Given the description of an element on the screen output the (x, y) to click on. 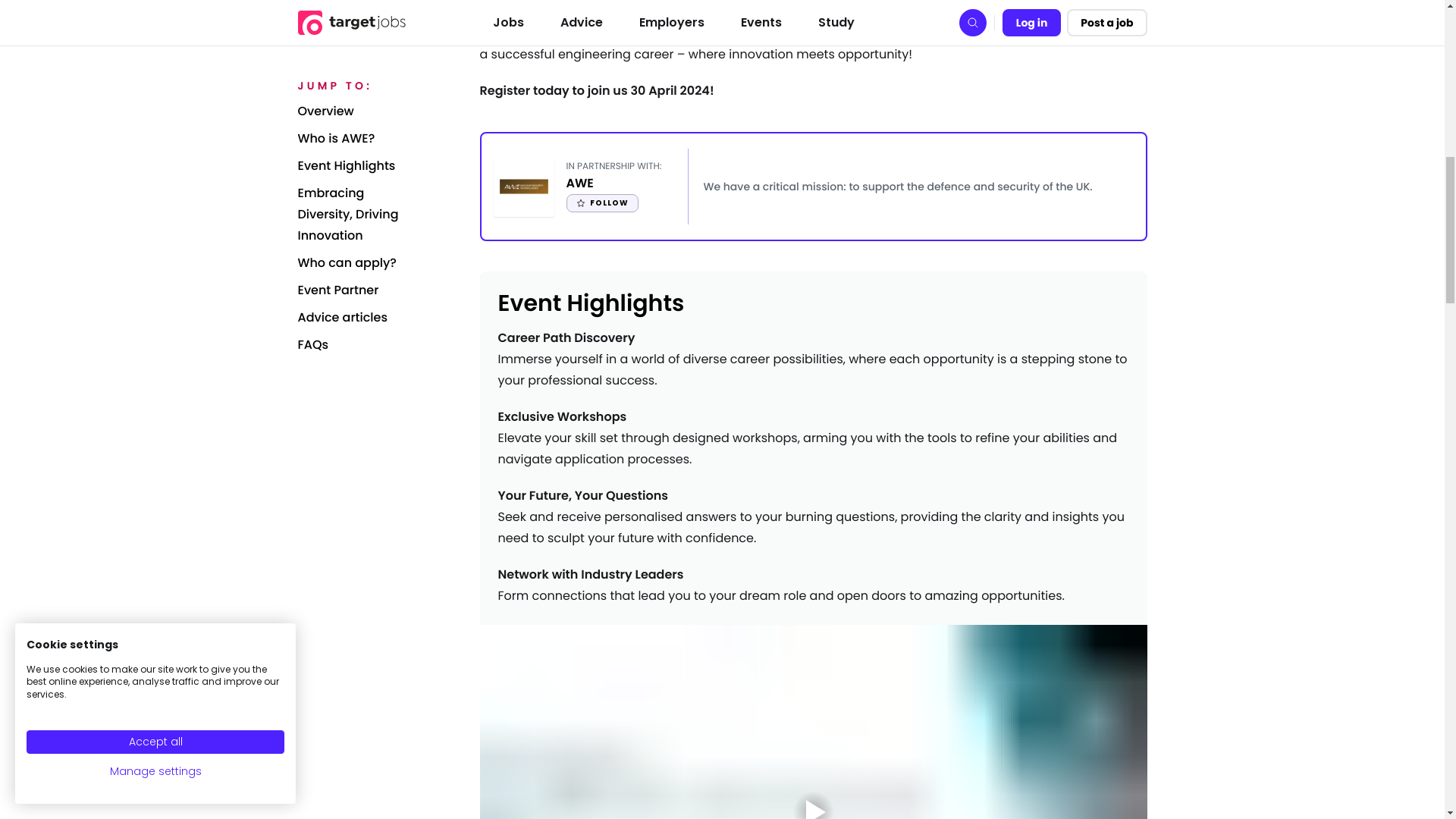
Logo for AWE (523, 186)
